Given the description of an element on the screen output the (x, y) to click on. 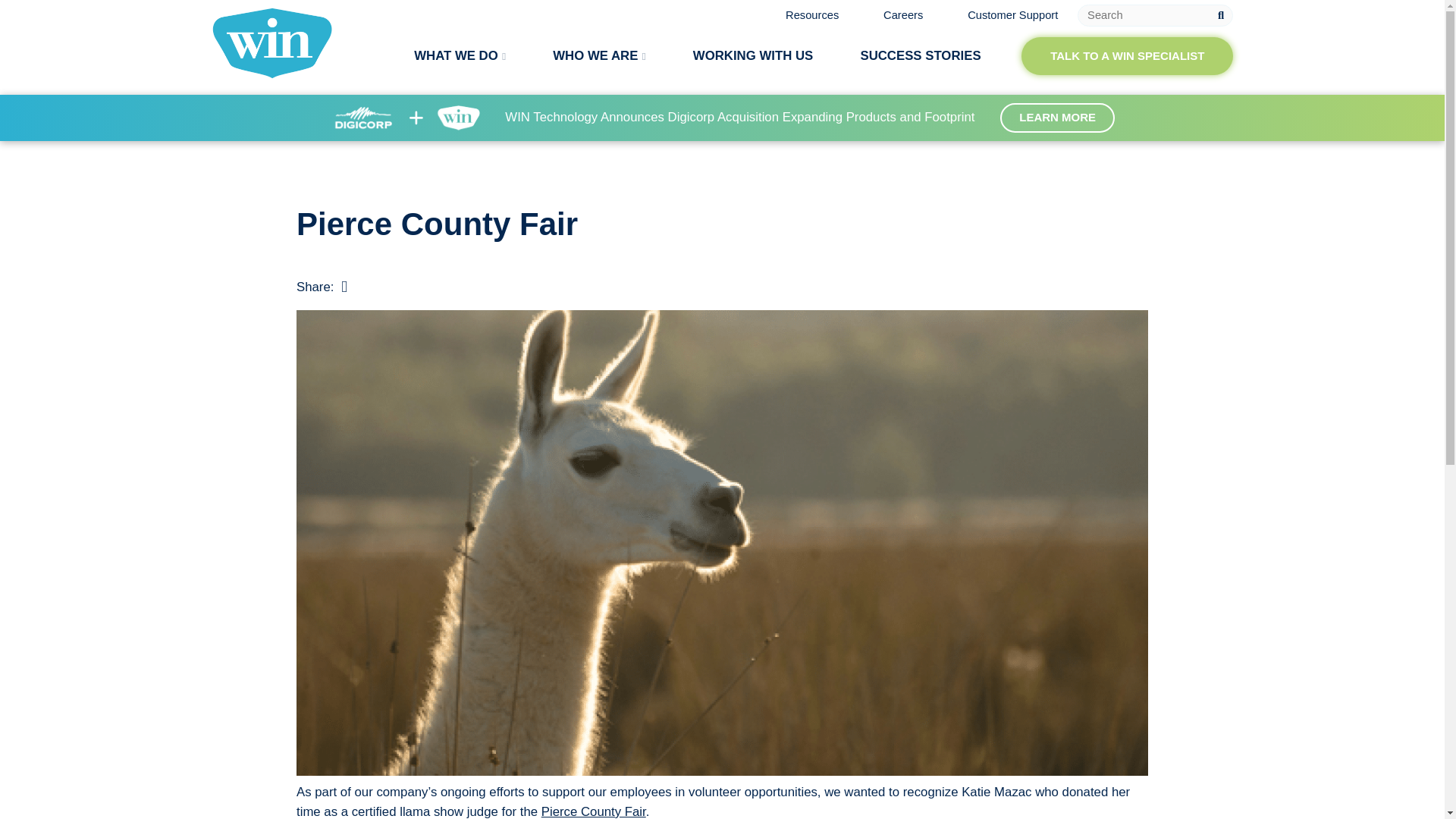
Submit Search (1220, 14)
Search (1155, 14)
Resources (812, 15)
Careers (903, 15)
Customer Support (1013, 15)
